Given the description of an element on the screen output the (x, y) to click on. 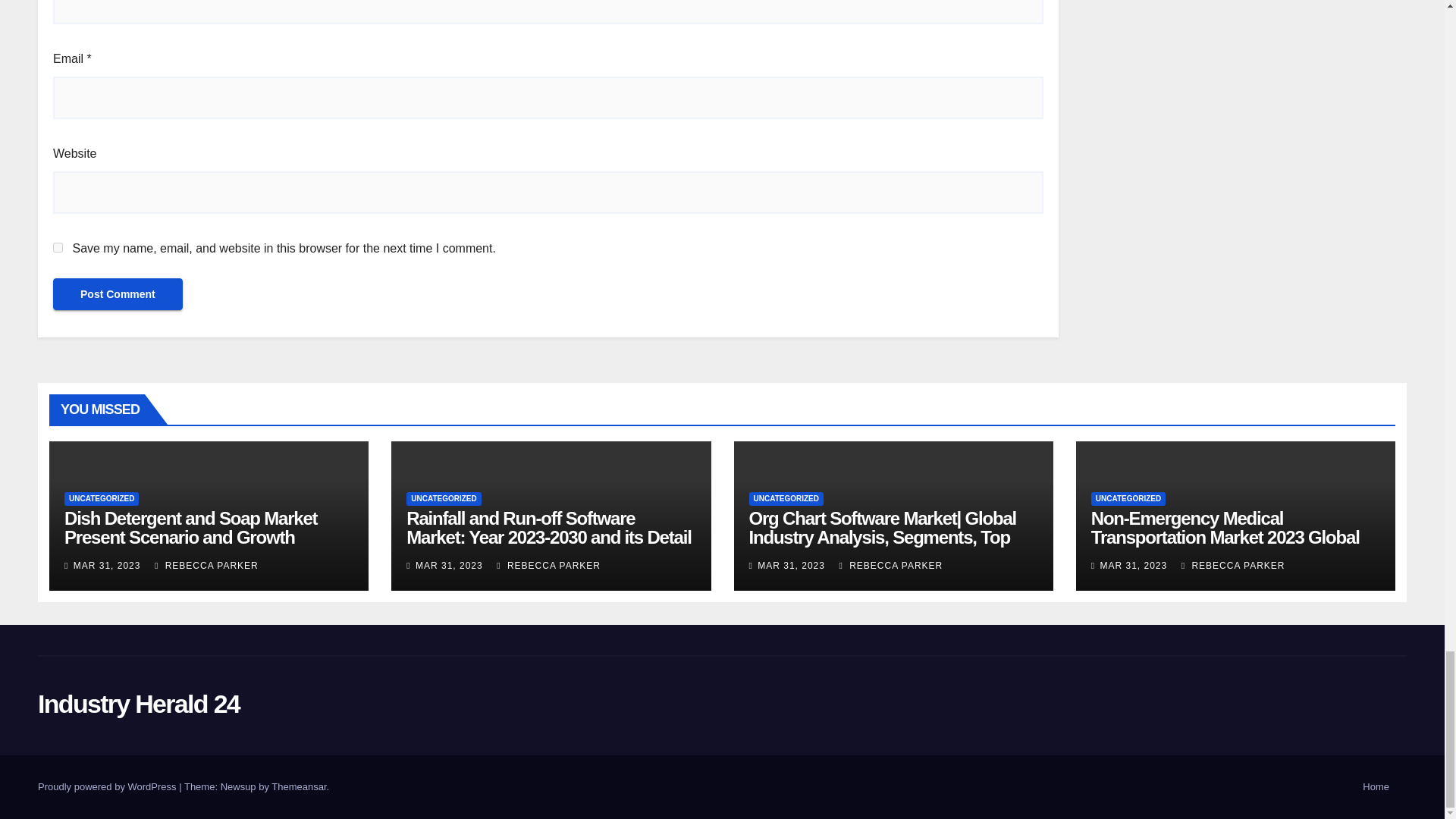
Home (1375, 786)
Post Comment (117, 294)
yes (57, 247)
